Given the description of an element on the screen output the (x, y) to click on. 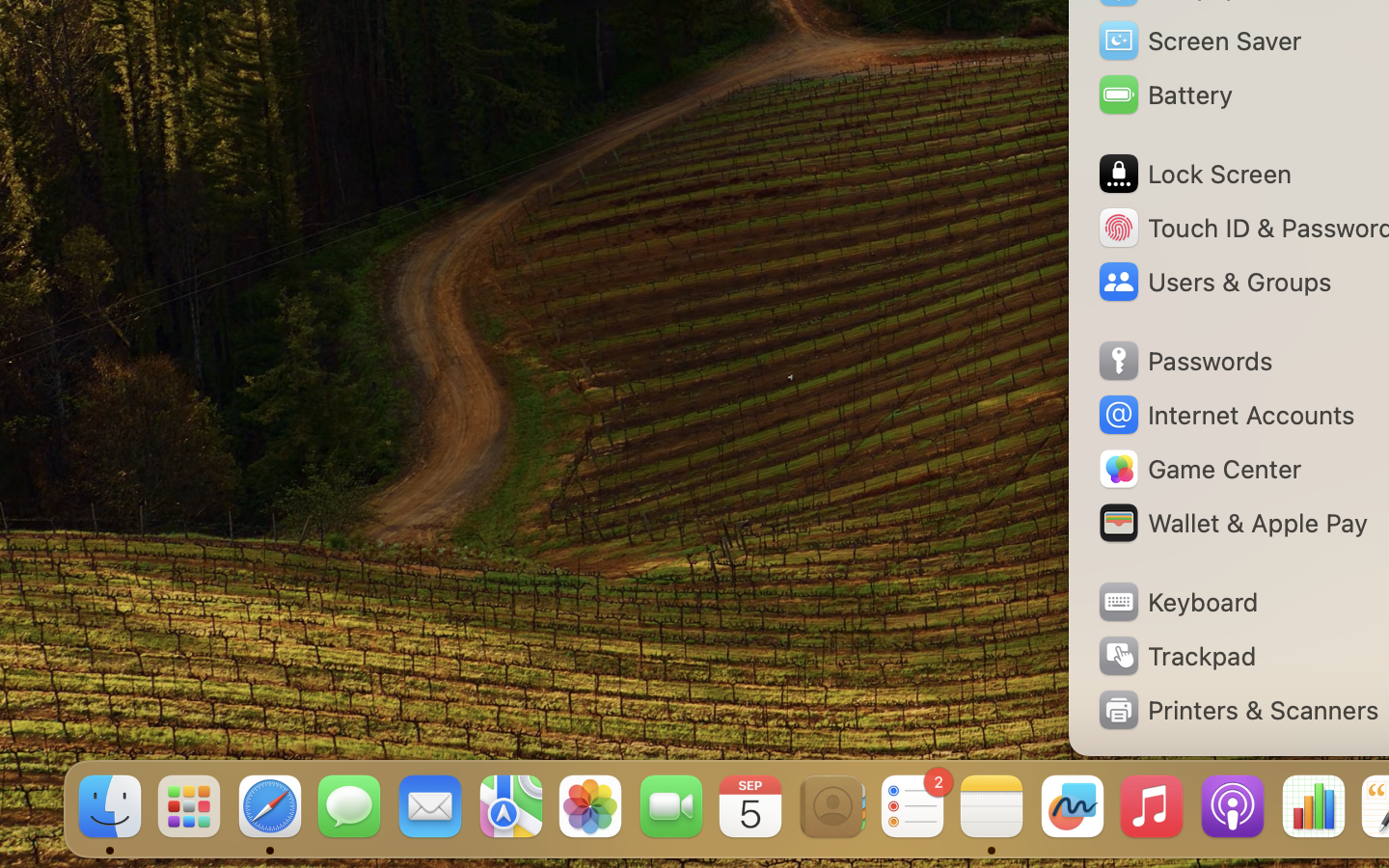
Users & Groups Element type: AXStaticText (1213, 281)
Wallet & Apple Pay Element type: AXStaticText (1231, 522)
Game Center Element type: AXStaticText (1198, 468)
Passwords Element type: AXStaticText (1184, 360)
Internet Accounts Element type: AXStaticText (1224, 414)
